Given the description of an element on the screen output the (x, y) to click on. 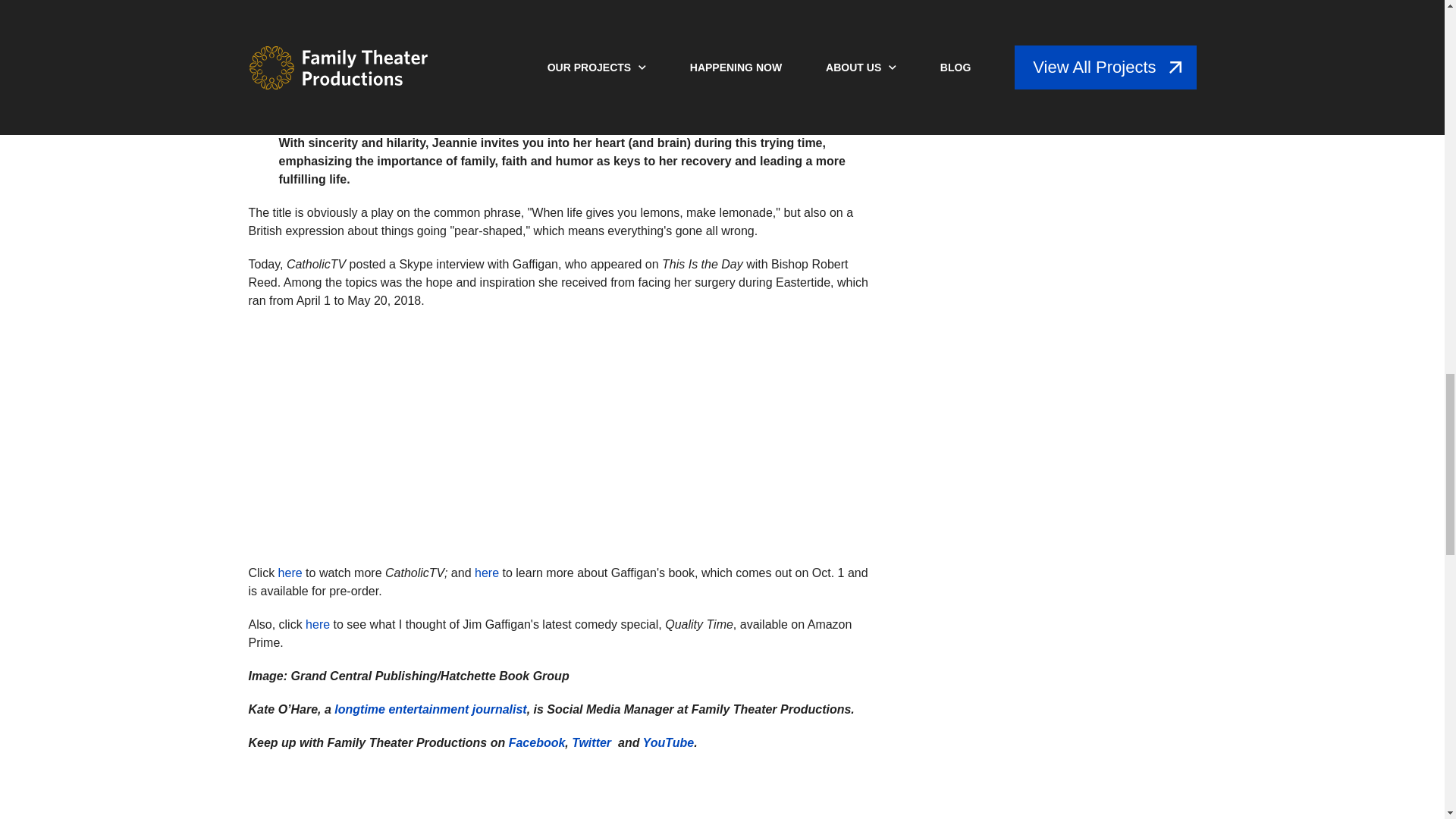
here (319, 624)
Twitter (591, 742)
here (486, 572)
here (288, 572)
YouTube (668, 742)
Facebook (537, 742)
longtime entertainment journalist (429, 708)
